Given the description of an element on the screen output the (x, y) to click on. 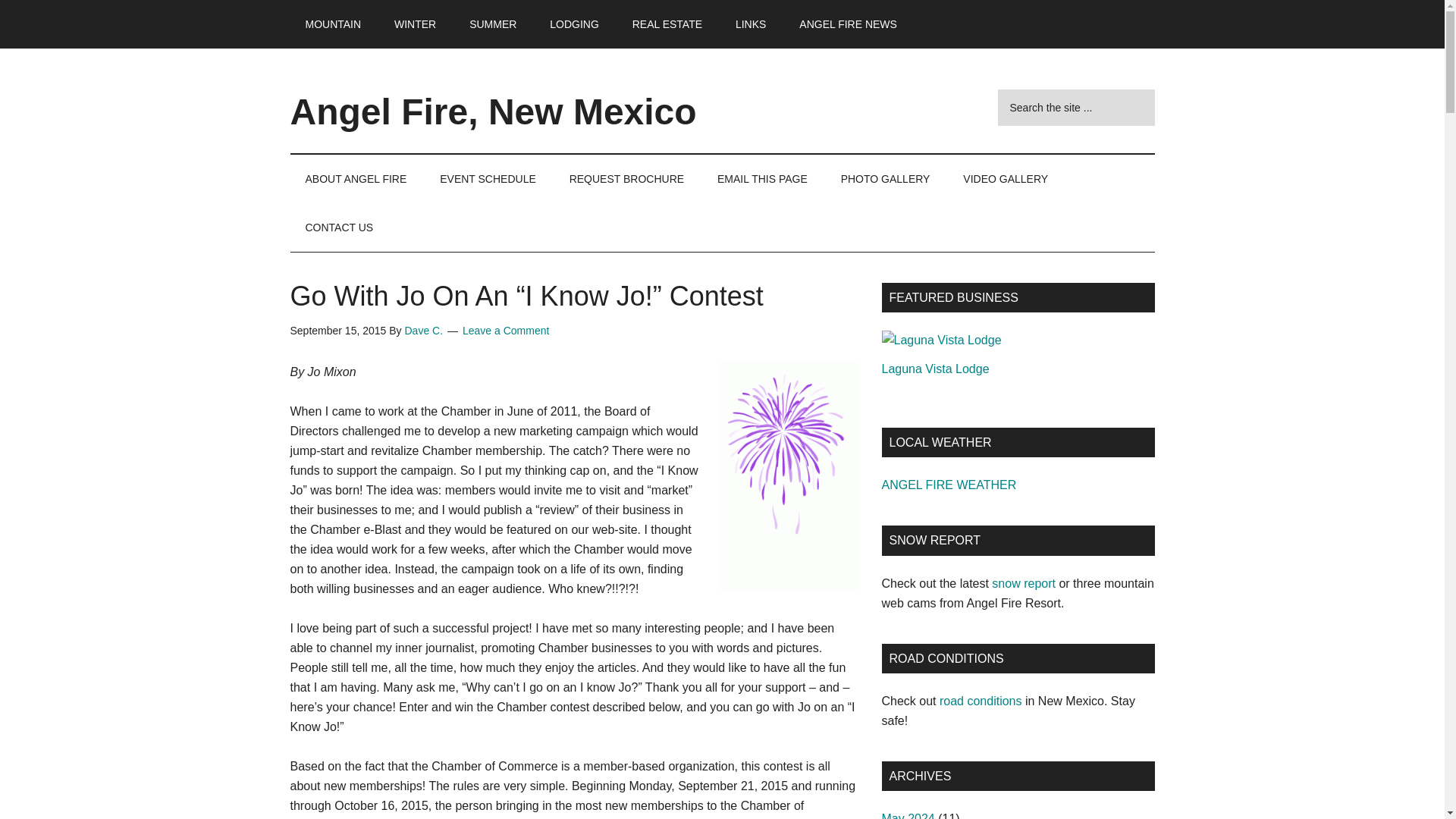
REAL ESTATE (667, 24)
WINTER (414, 24)
Laguna Vista Lodge (940, 340)
MOUNTAIN (332, 24)
LODGING (574, 24)
SUMMER (492, 24)
